Given the description of an element on the screen output the (x, y) to click on. 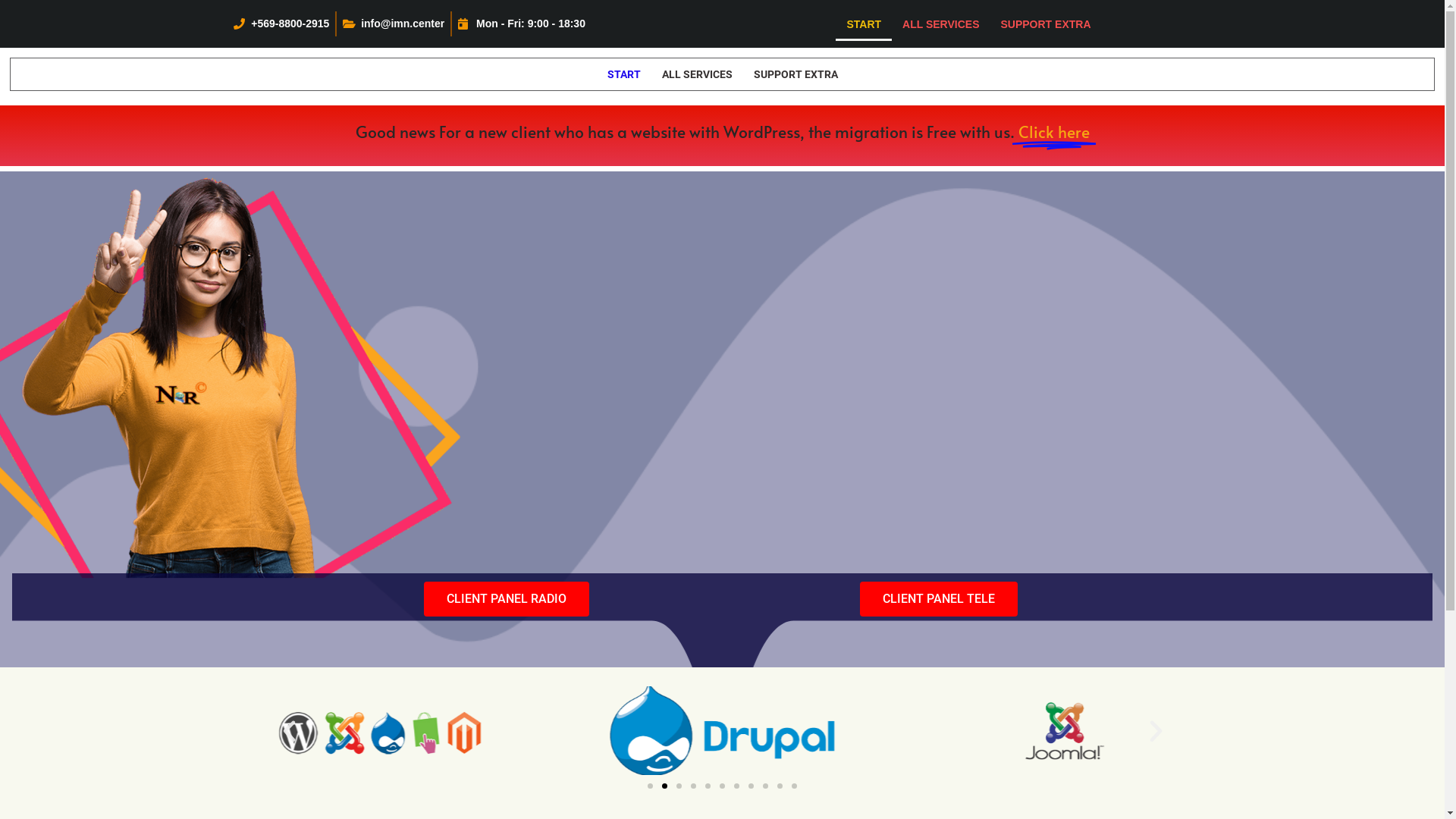
CLIENT PANEL RADIO Element type: text (505, 598)
CLIENT PANEL TELE Element type: text (938, 598)
SUPPORT EXTRA Element type: text (795, 74)
START Element type: text (623, 74)
SUPPORT EXTRA Element type: text (1045, 23)
START Element type: text (863, 23)
ALL SERVICES Element type: text (696, 74)
ALL SERVICES Element type: text (940, 23)
